Given the description of an element on the screen output the (x, y) to click on. 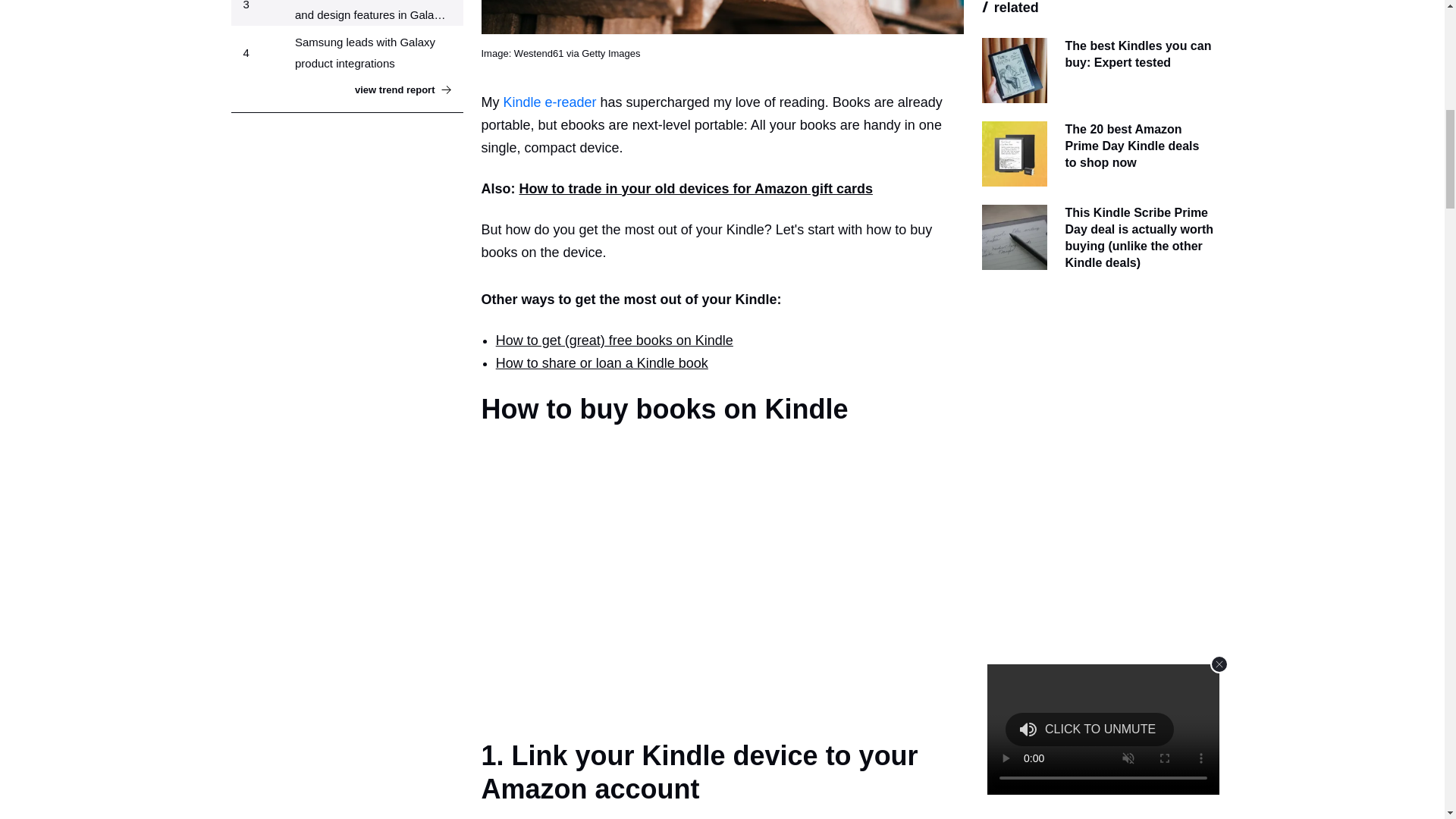
3rd party ad content (1097, 396)
